Given the description of an element on the screen output the (x, y) to click on. 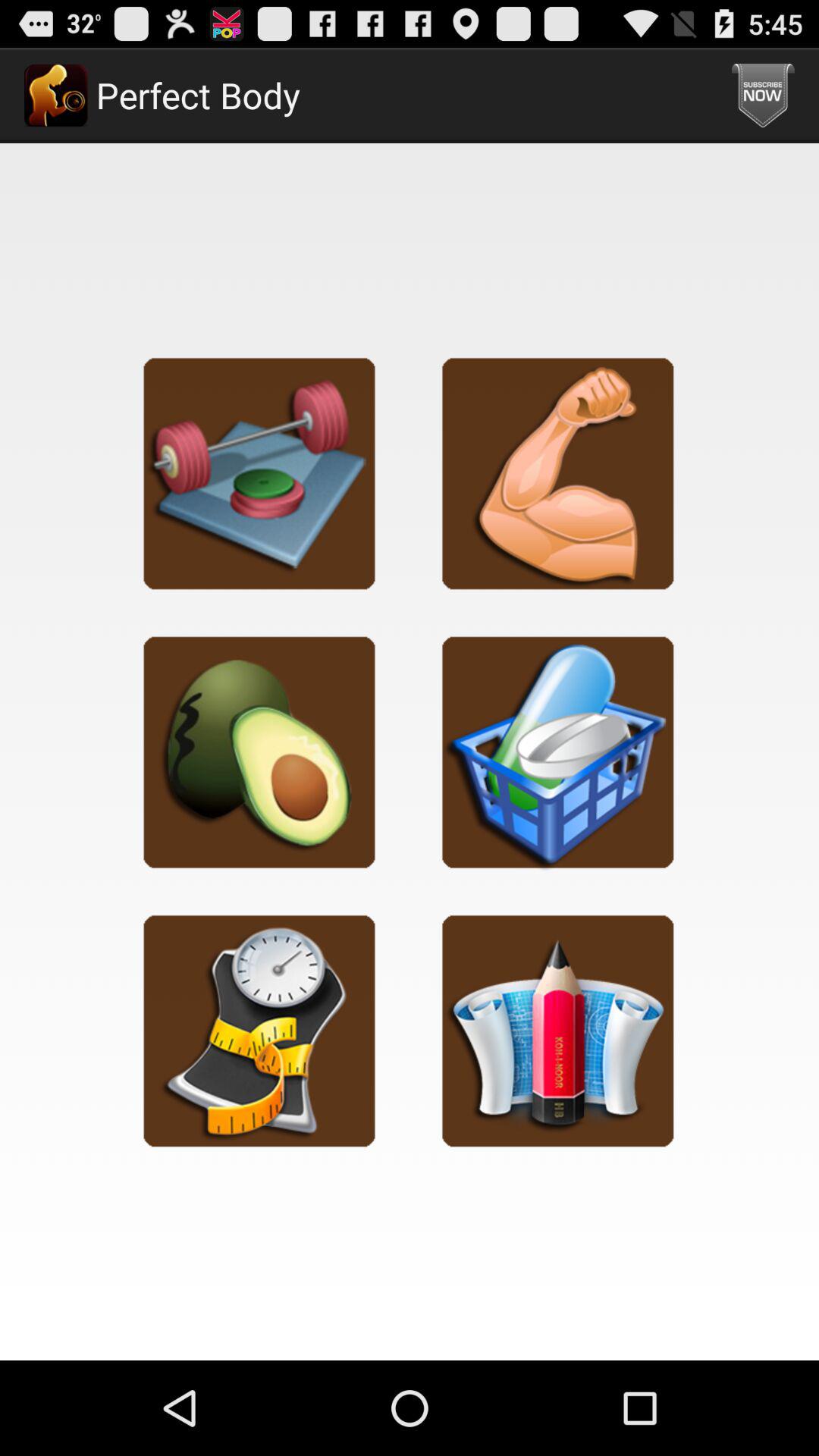
choose the icon next to perfect body (763, 95)
